Given the description of an element on the screen output the (x, y) to click on. 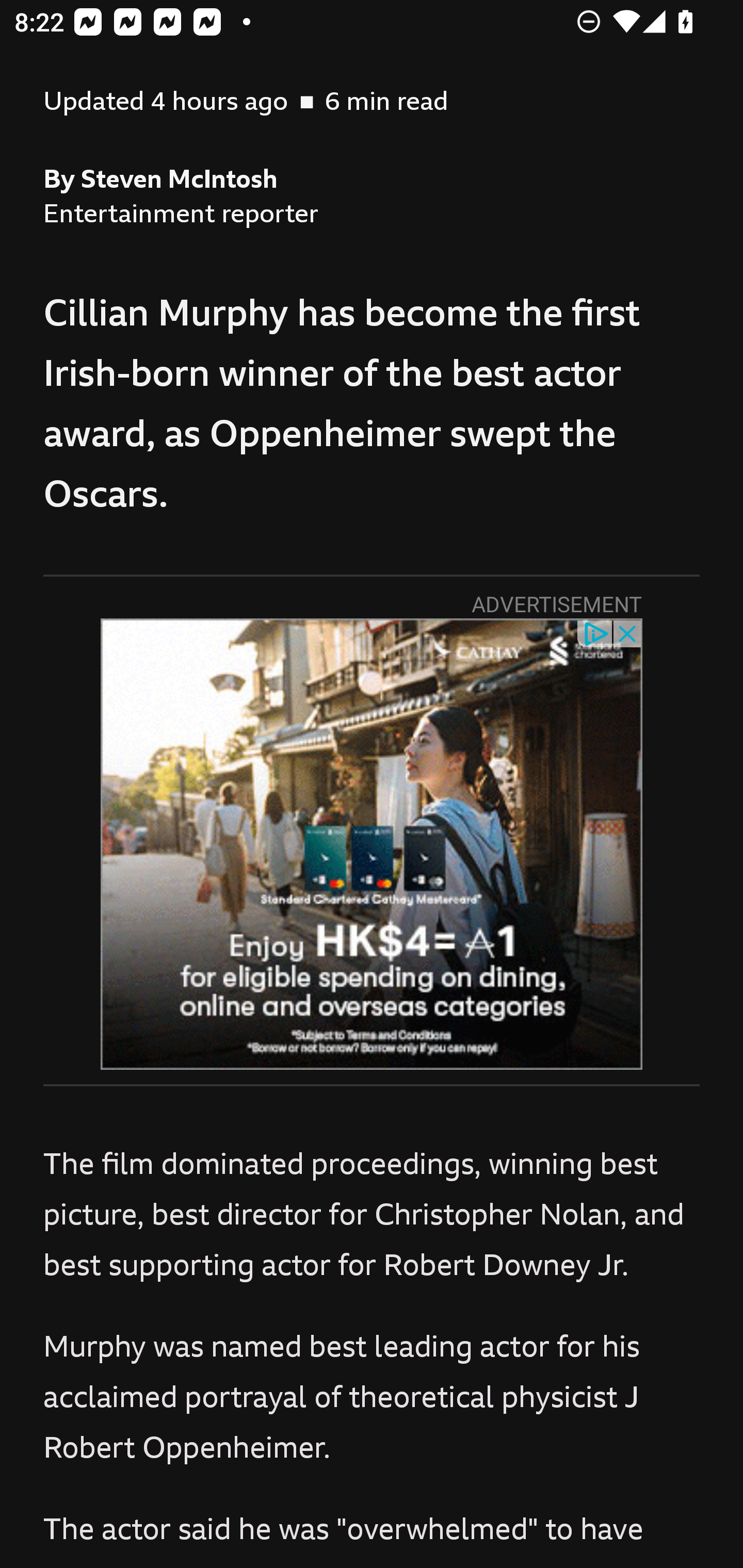
privacy_small (595, 632)
close_button (627, 632)
